Given the description of an element on the screen output the (x, y) to click on. 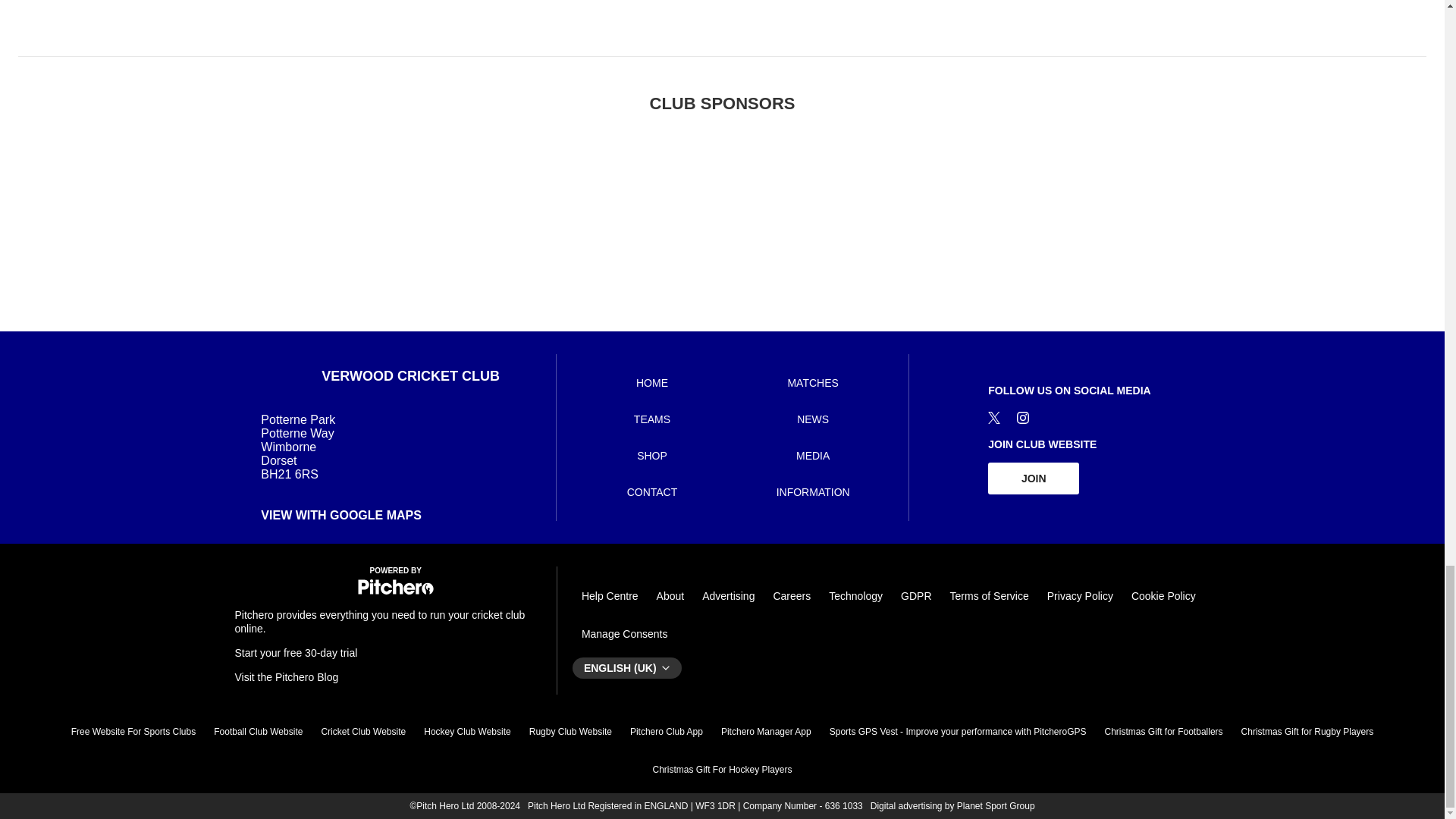
Pitchero (395, 590)
Youth Match Ball Sponsor - Clear Bookkeeping Ltd (642, 203)
Club Sponsor - Struan Financial Managment (485, 203)
Streaming - 3Line (958, 203)
